Given the description of an element on the screen output the (x, y) to click on. 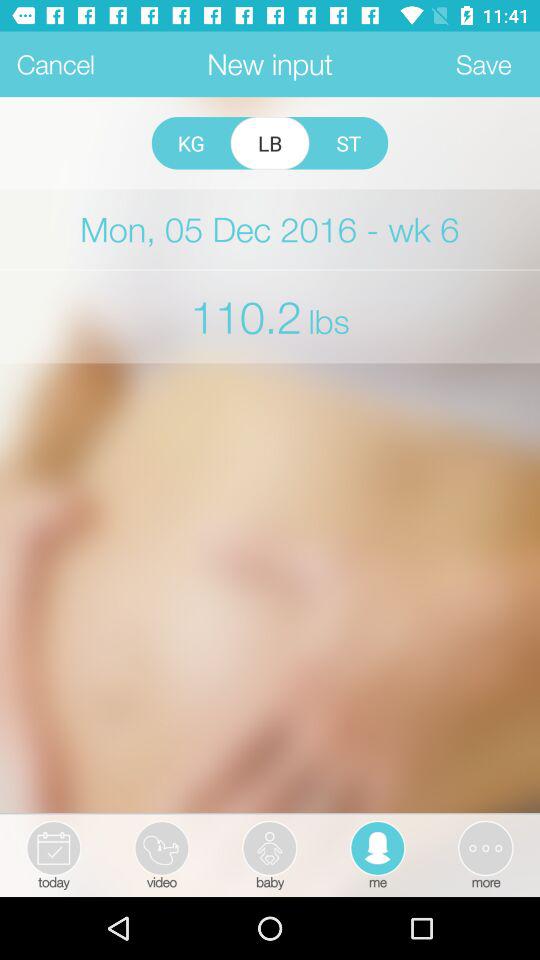
press the item next to st item (269, 143)
